Given the description of an element on the screen output the (x, y) to click on. 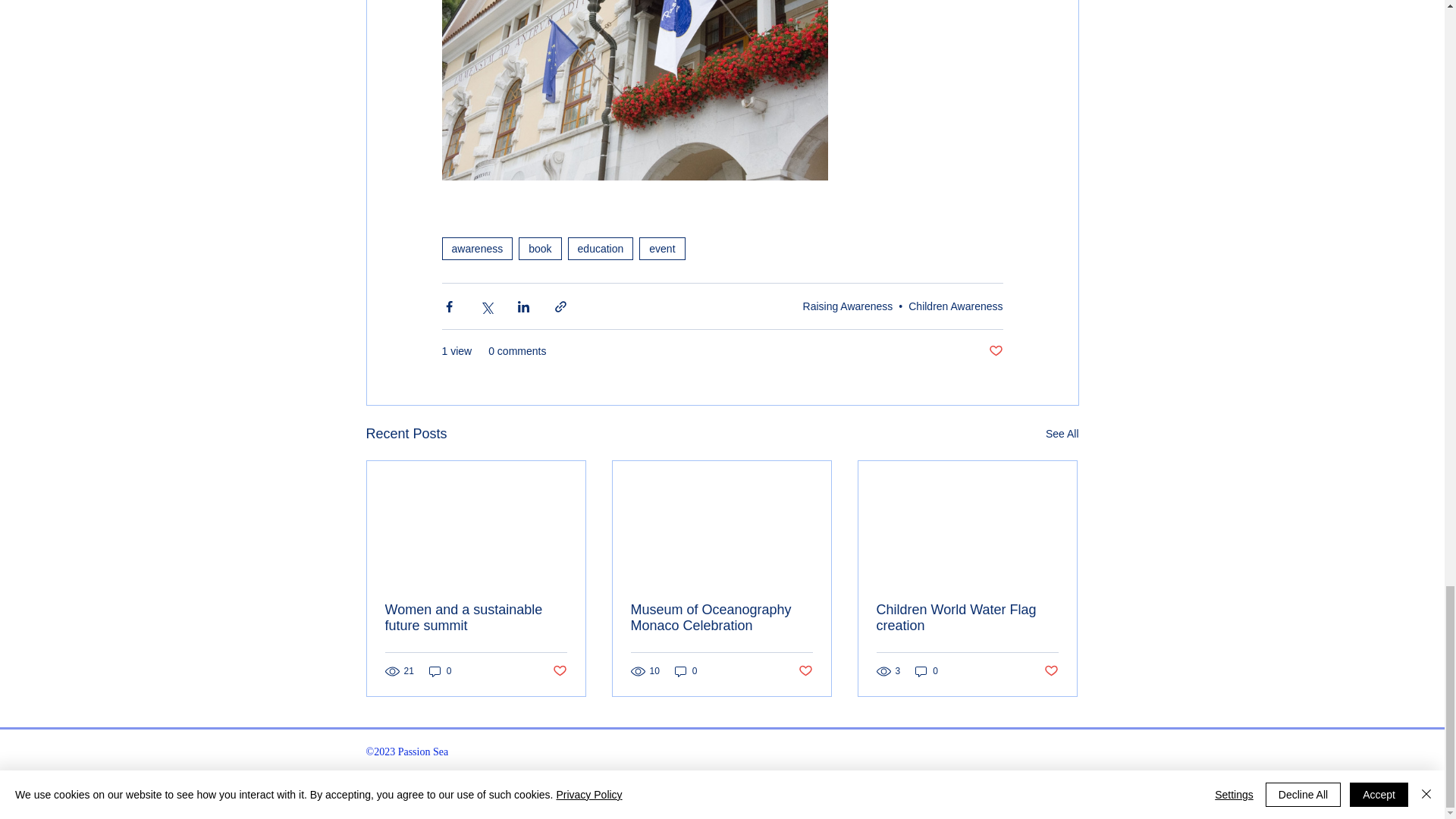
book (539, 248)
education (600, 248)
awareness (476, 248)
event (661, 248)
